Given the description of an element on the screen output the (x, y) to click on. 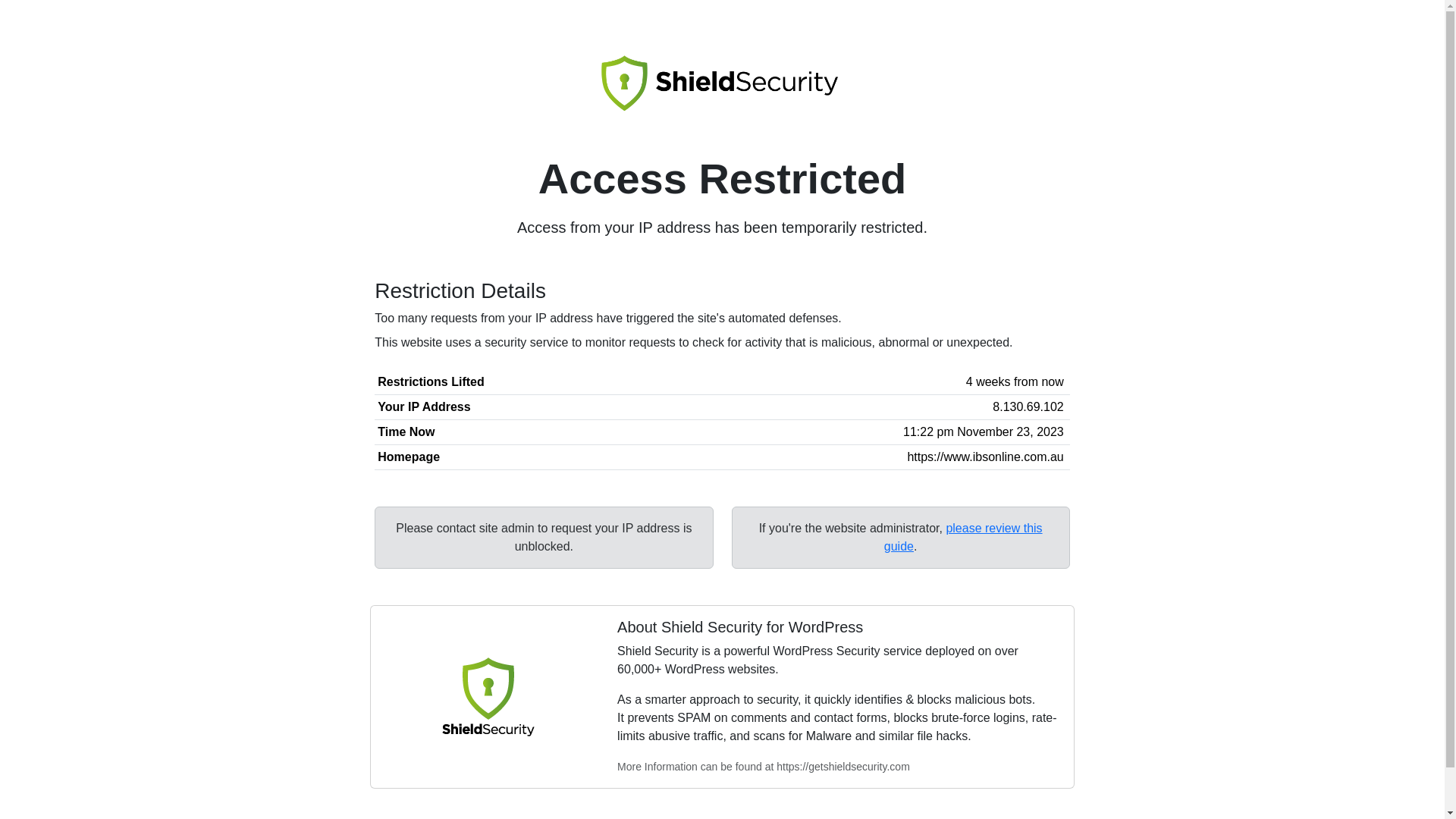
please review this guide Element type: text (963, 536)
